Given the description of an element on the screen output the (x, y) to click on. 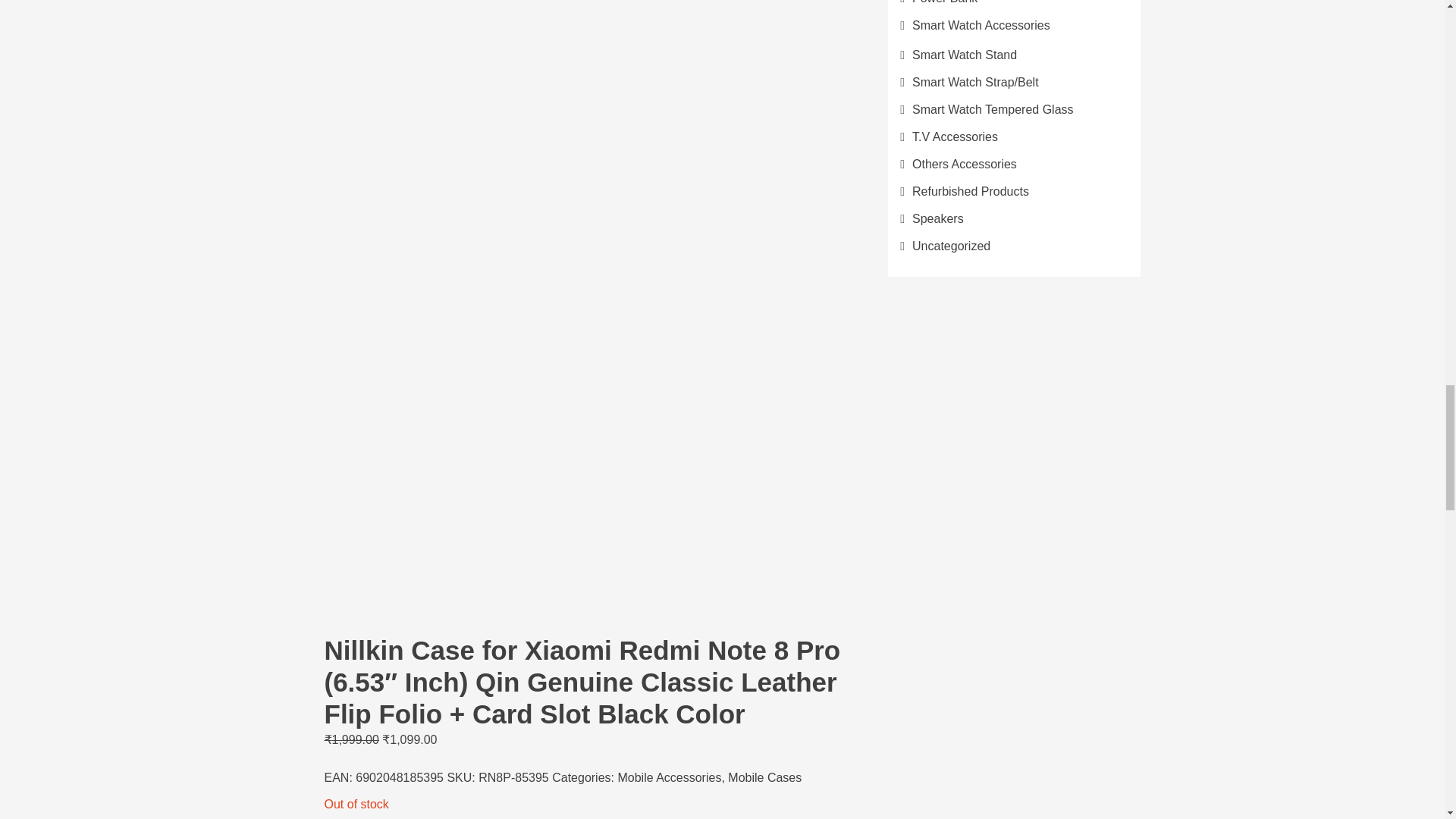
Mobile Accessories (668, 777)
Mobile Cases (765, 777)
